Given the description of an element on the screen output the (x, y) to click on. 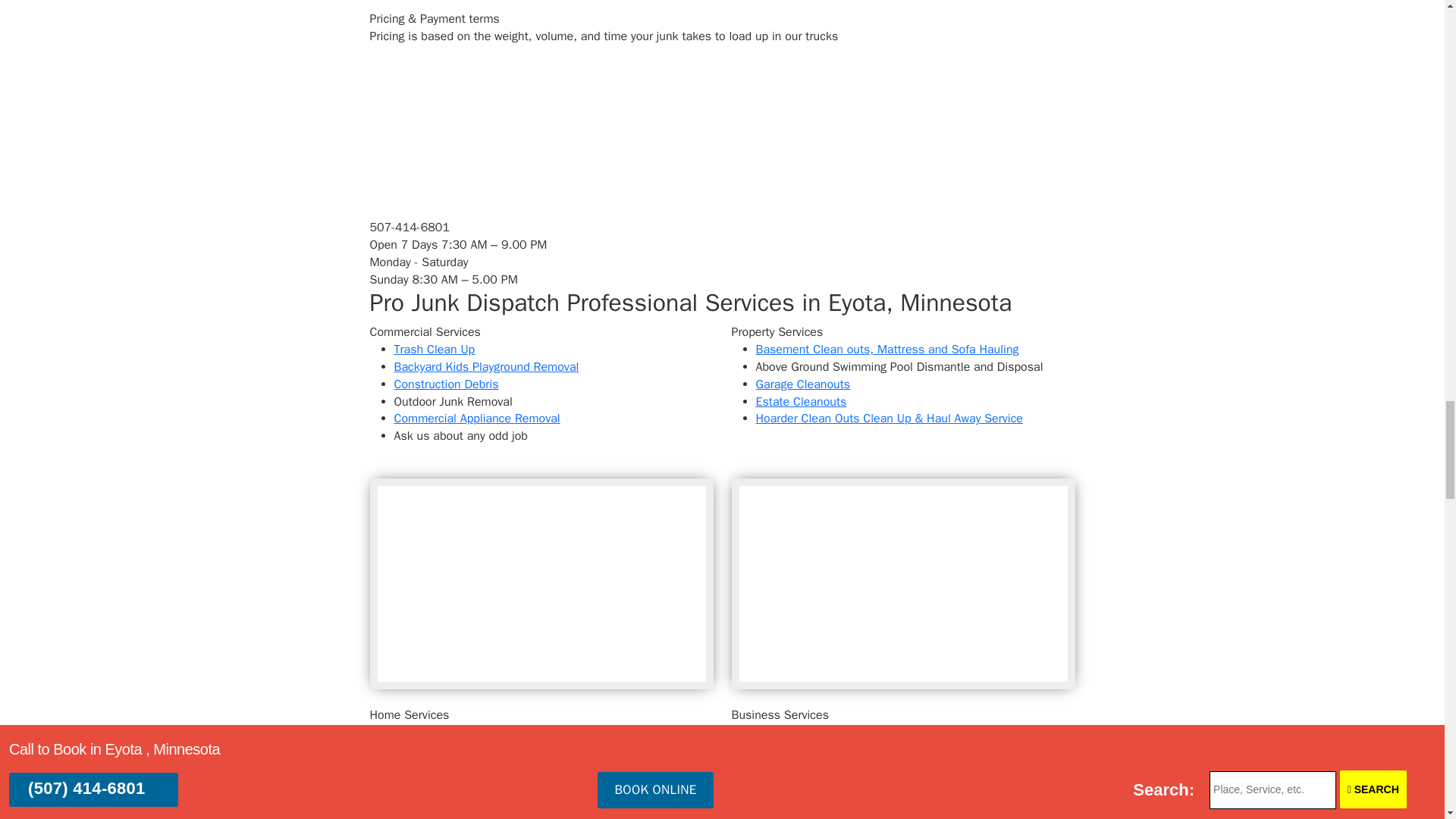
Basement Clean outs, Mattress and Sofa Hauling (886, 349)
Construction Debris (446, 384)
Commercial Appliance Removal (477, 418)
Pro Junk Dispatch trash cleanout video (902, 583)
Backyard Kids Playground Removal (486, 366)
Garage Cleanouts (802, 384)
Estate Cleanouts (800, 401)
Different payment methods supported by Pro Junk Dispatch (482, 97)
Foreclosure Cleanouts (814, 766)
Trash Clean Up (435, 349)
